Given the description of an element on the screen output the (x, y) to click on. 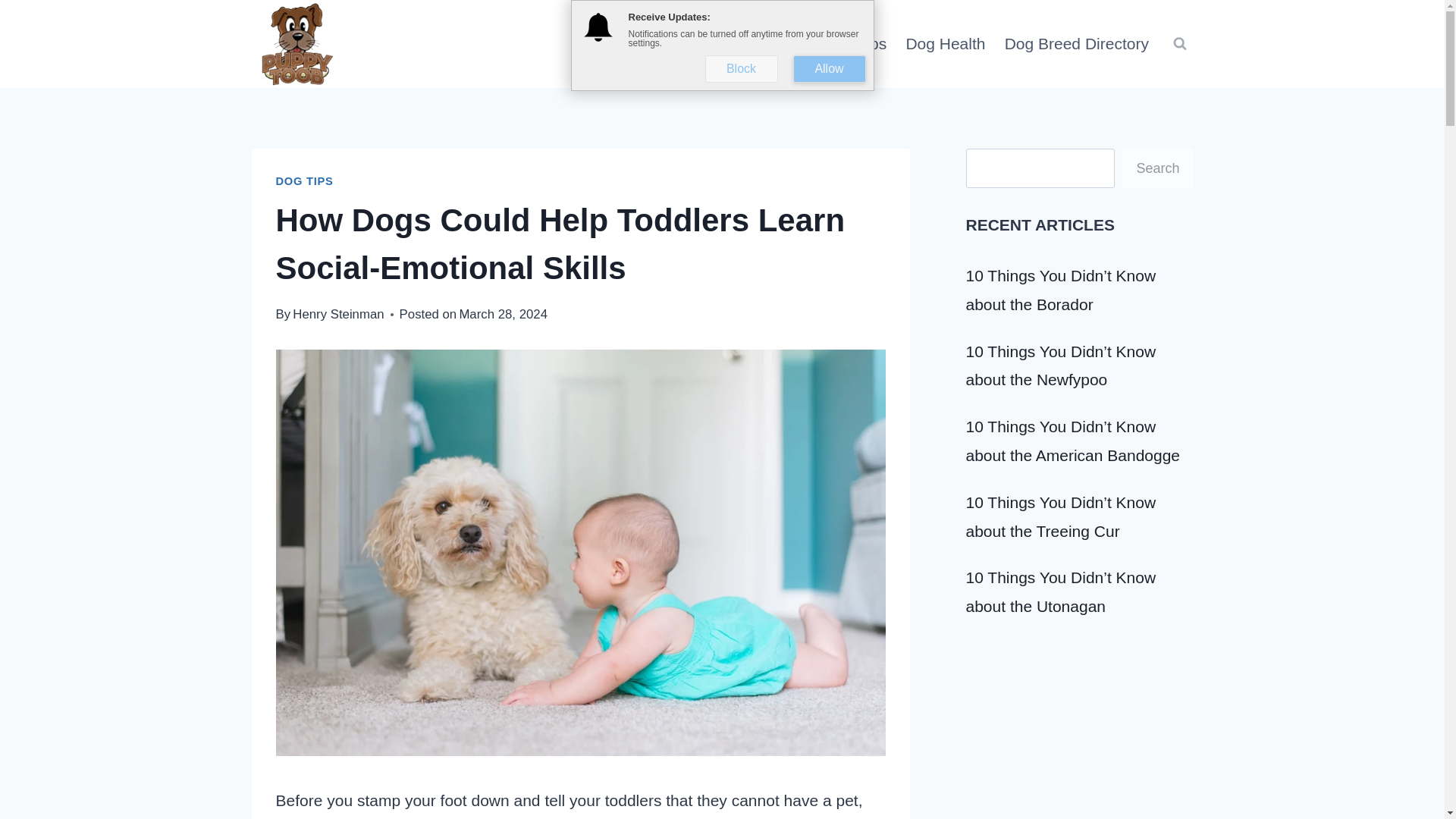
Allow (829, 68)
Dog News (664, 44)
Dog Health (945, 44)
Dog Breeds (762, 44)
Henry Steinman (338, 314)
Dog Tips (854, 44)
Block (740, 68)
DOG TIPS (304, 181)
Dog Breed Directory (1075, 44)
